Given the description of an element on the screen output the (x, y) to click on. 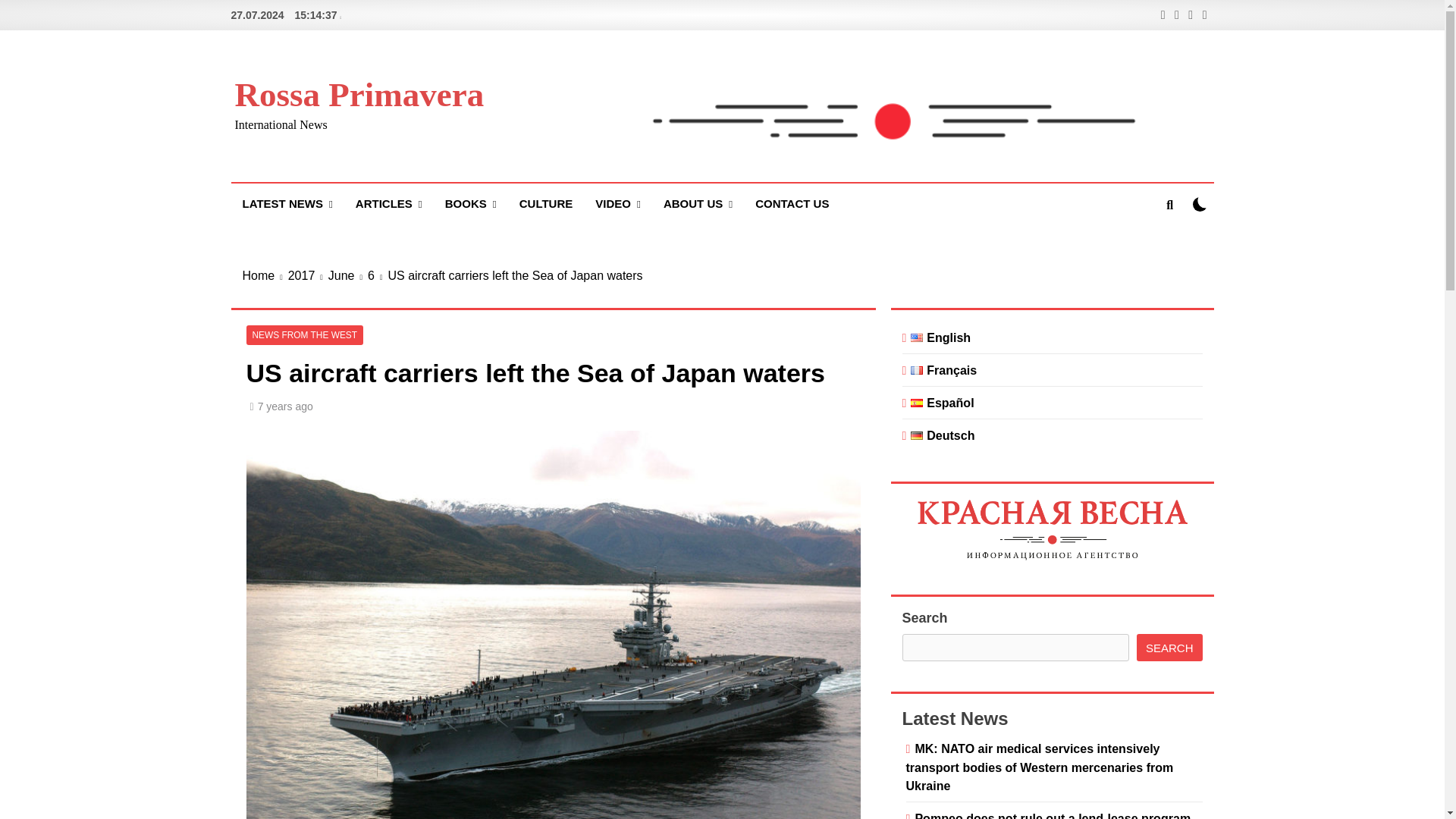
BOOKS (470, 204)
CULTURE (546, 203)
LATEST NEWS (286, 204)
ARTICLES (388, 204)
on (1199, 204)
Rossa Primavera (359, 94)
